Given the description of an element on the screen output the (x, y) to click on. 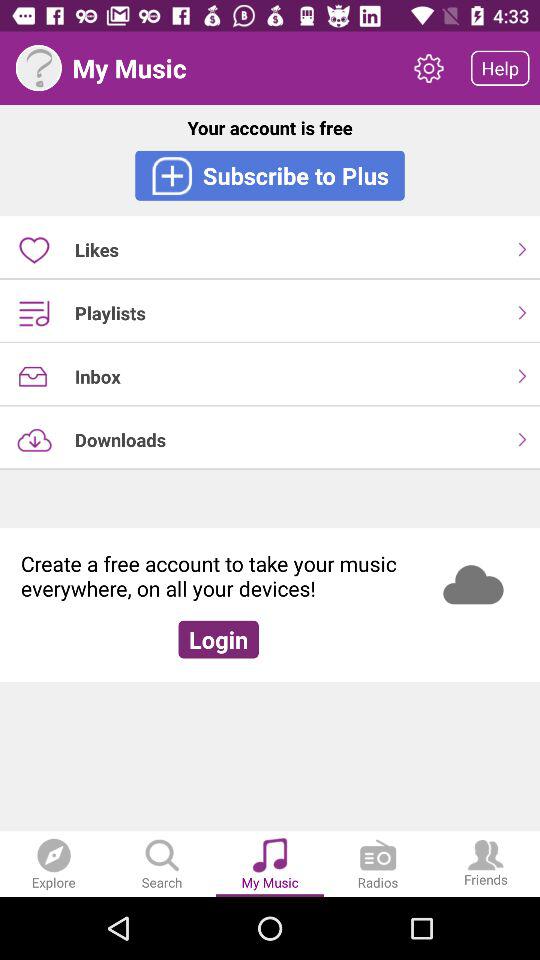
turn on icon to the right of the my music (428, 67)
